Given the description of an element on the screen output the (x, y) to click on. 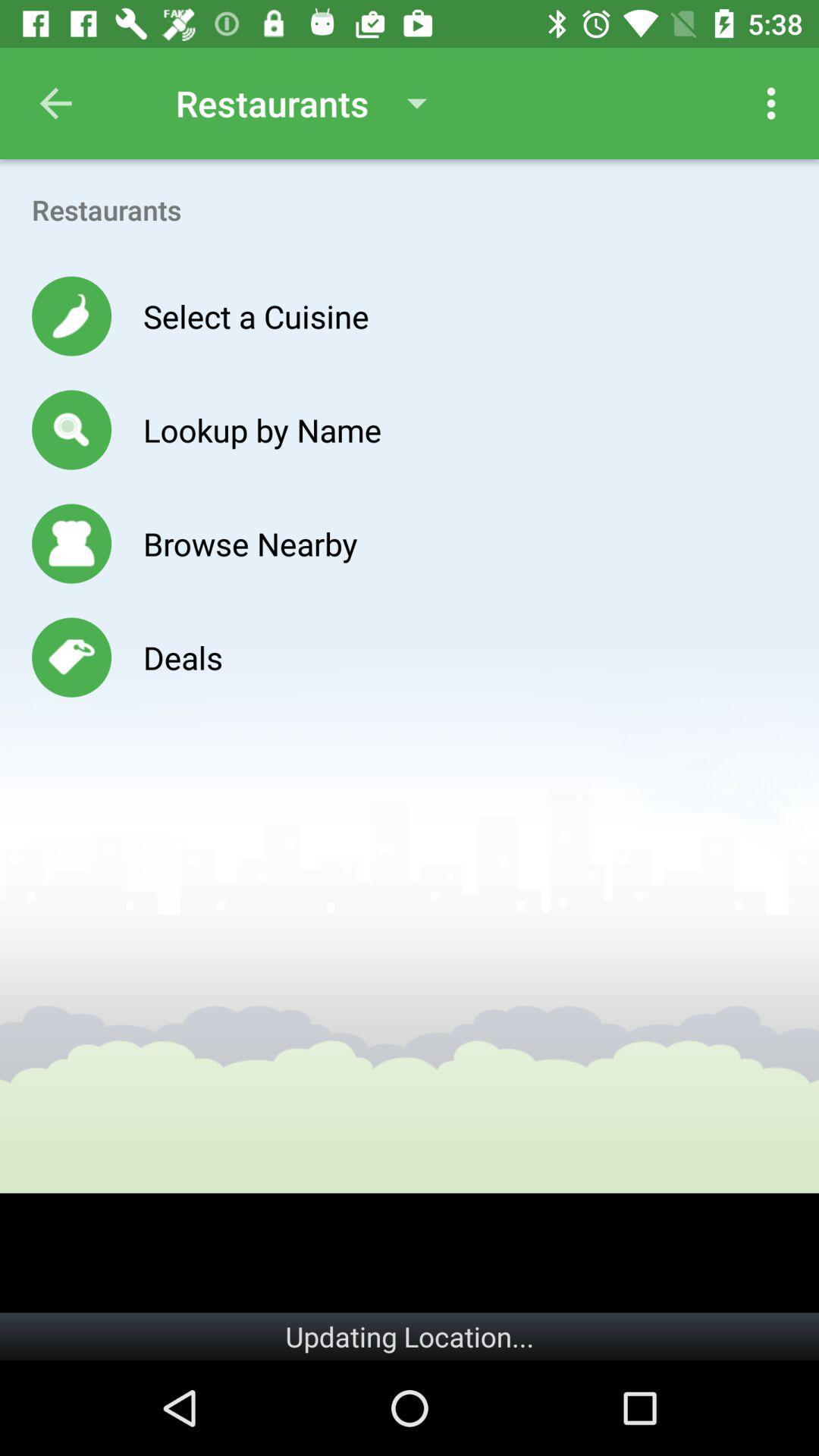
choose the item below restaurants item (256, 315)
